Given the description of an element on the screen output the (x, y) to click on. 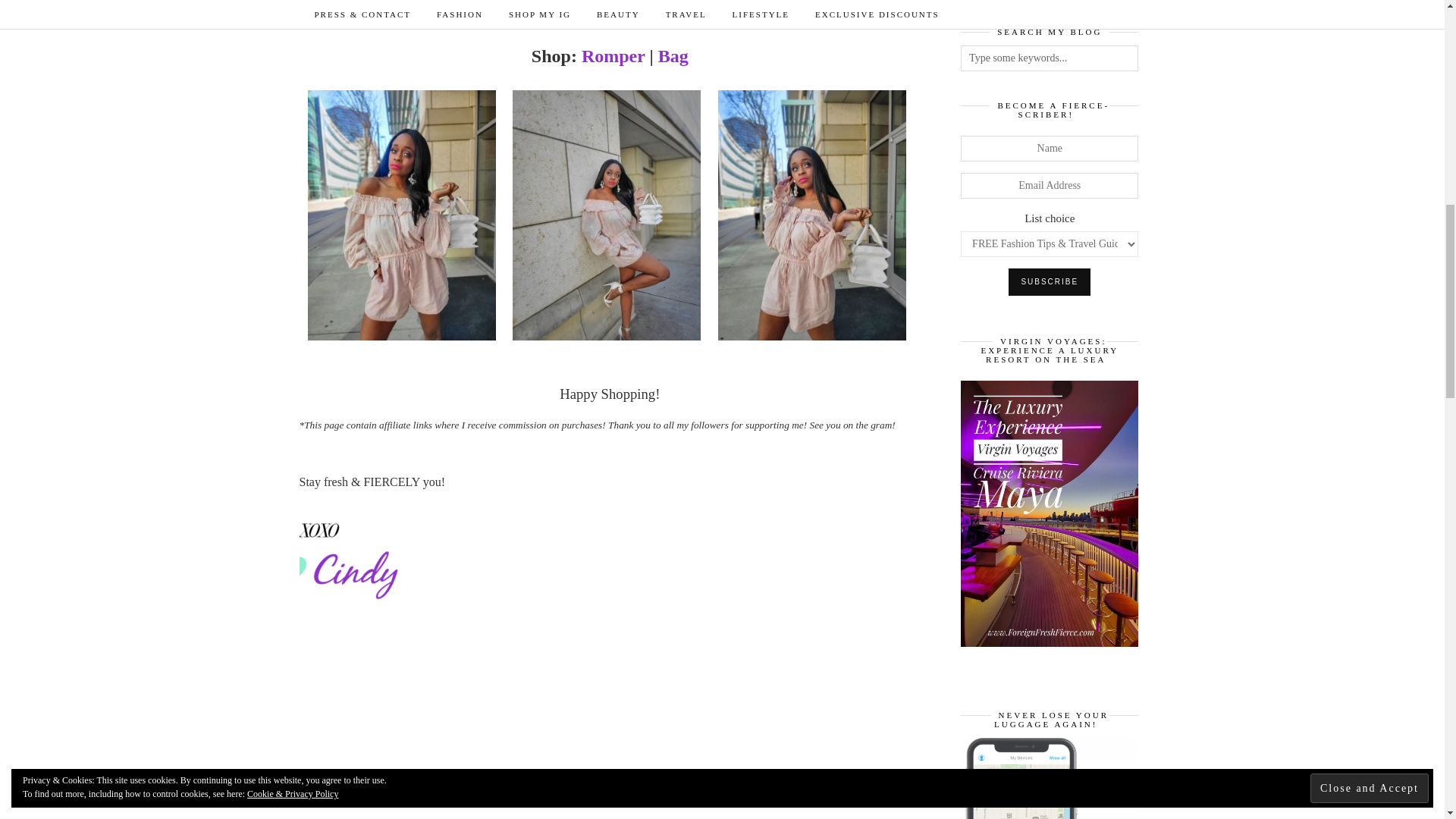
Subscribe (1049, 281)
